Given the description of an element on the screen output the (x, y) to click on. 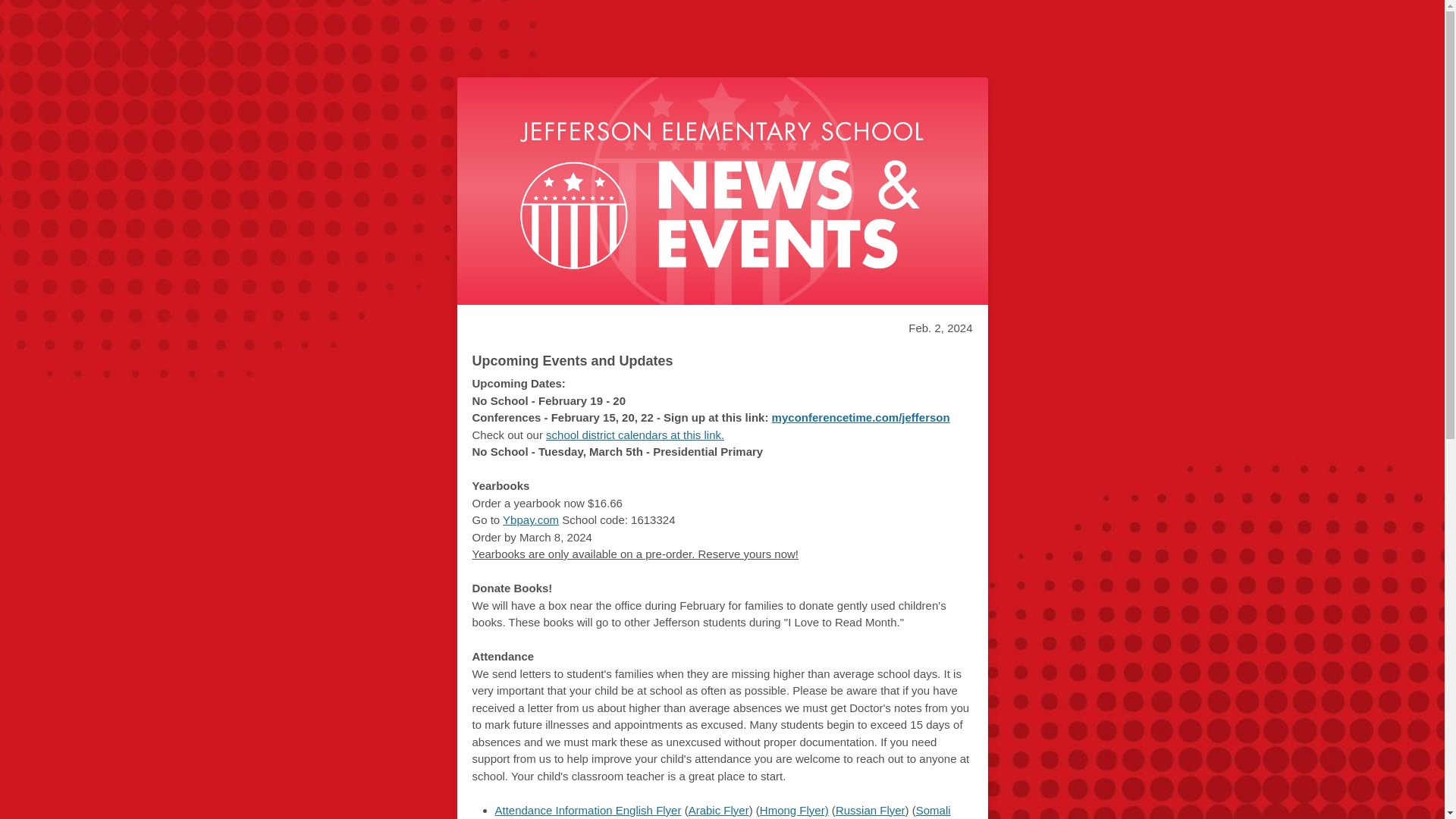
Arabic Flyer (718, 809)
Attendance Information English Flyer (588, 809)
Russian Flyer (870, 809)
Somali Flyer (722, 811)
school district calendars at this link. (634, 433)
Ybpay.com (530, 519)
